Given the description of an element on the screen output the (x, y) to click on. 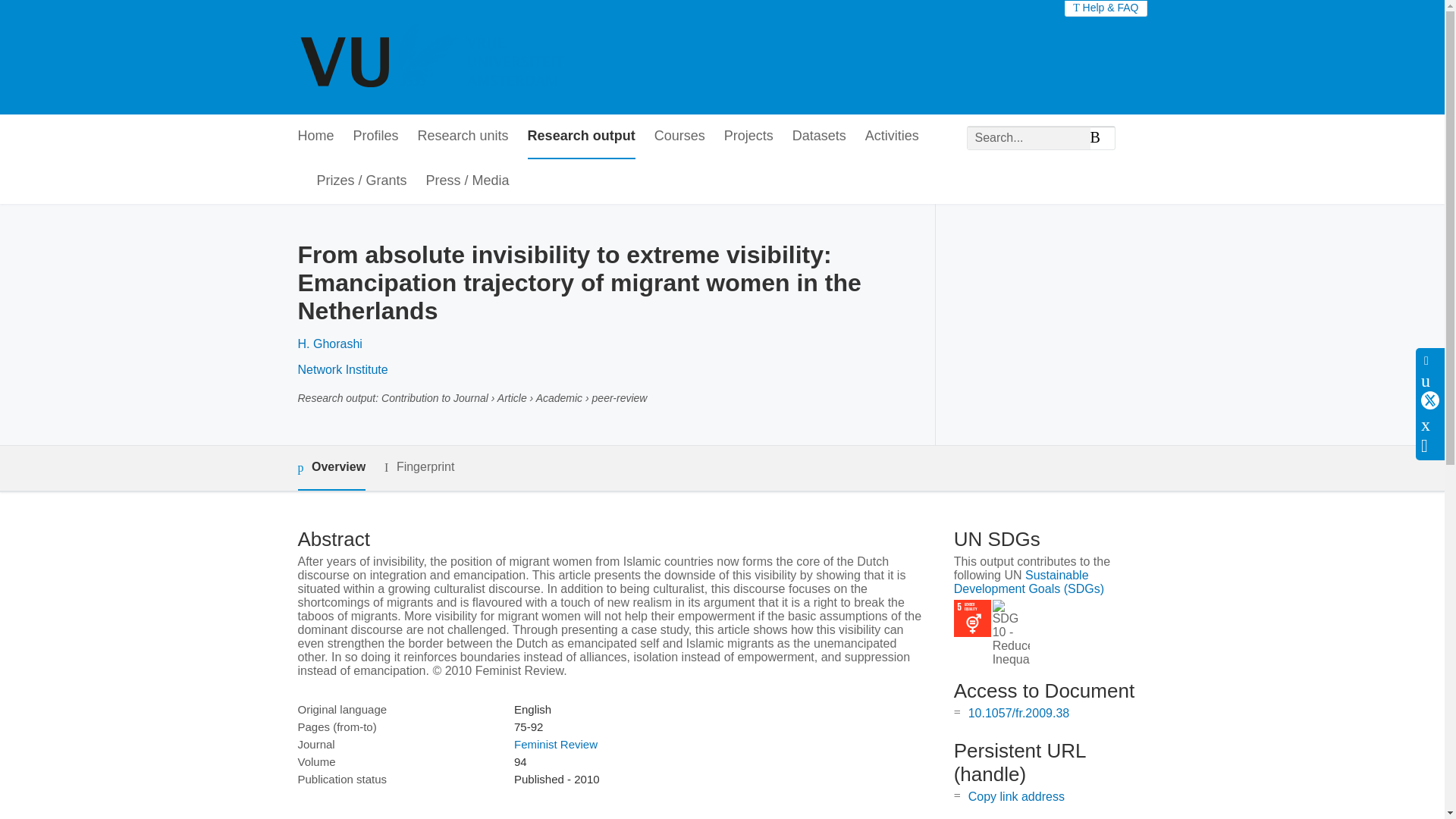
Activities (891, 136)
SDG 5 - Gender Equality (972, 618)
Datasets (818, 136)
Research output (580, 136)
Vrije Universiteit Amsterdam Home (433, 57)
Network Institute (342, 369)
Overview (331, 467)
Courses (678, 136)
H. Ghorashi (329, 343)
Copy link address (1016, 796)
Feminist Review (554, 744)
Profiles (375, 136)
Research units (462, 136)
Fingerprint (419, 466)
